Given the description of an element on the screen output the (x, y) to click on. 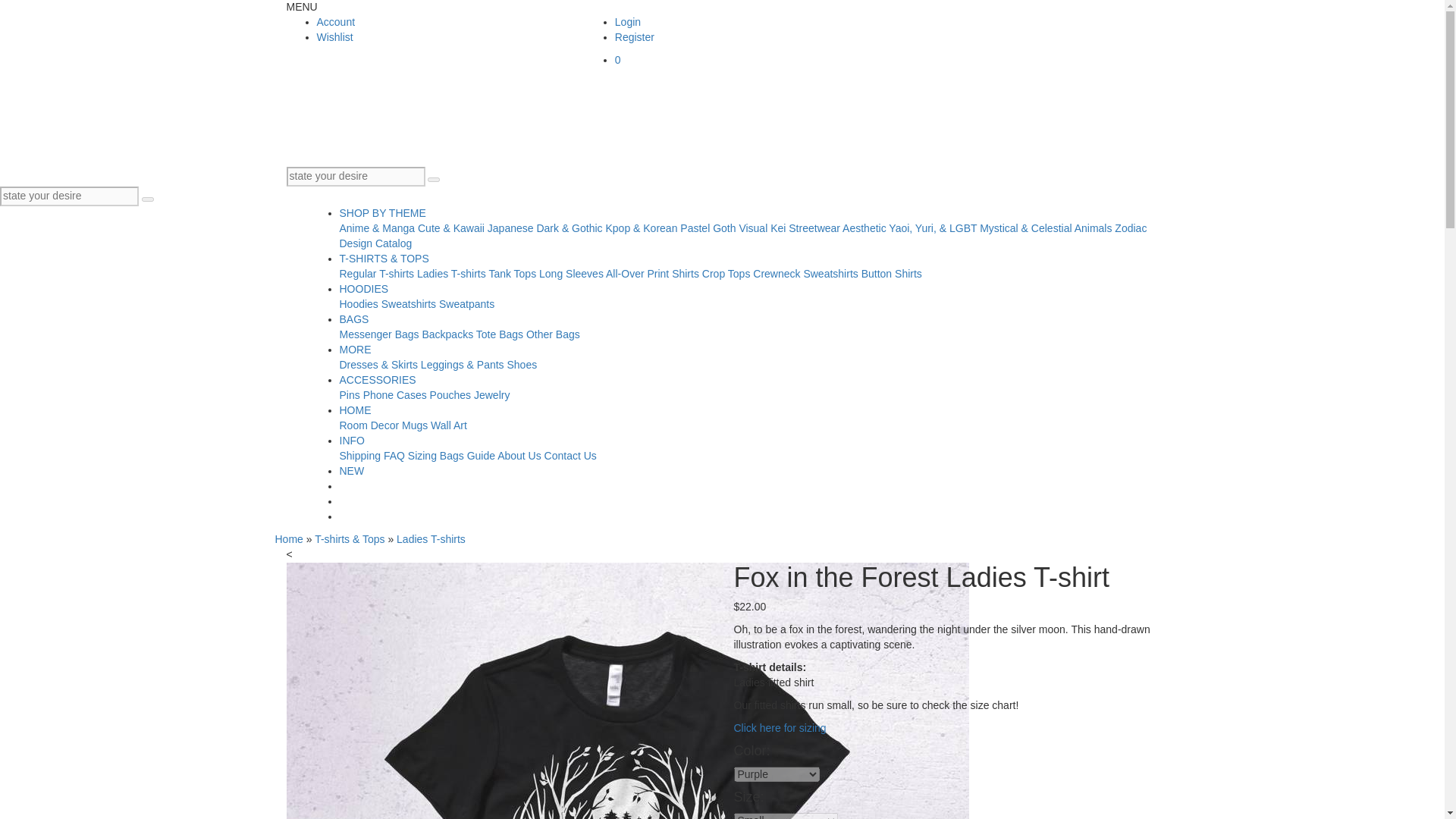
Register (633, 37)
Wishlist (335, 37)
Streetwear Aesthetic (837, 227)
Zodiac (1131, 227)
All-Over Print Shirts (651, 273)
Hoodies (358, 304)
Messenger Bags (379, 334)
Animals (1093, 227)
Tote Bags (499, 334)
Sweatpants (467, 304)
